Given the description of an element on the screen output the (x, y) to click on. 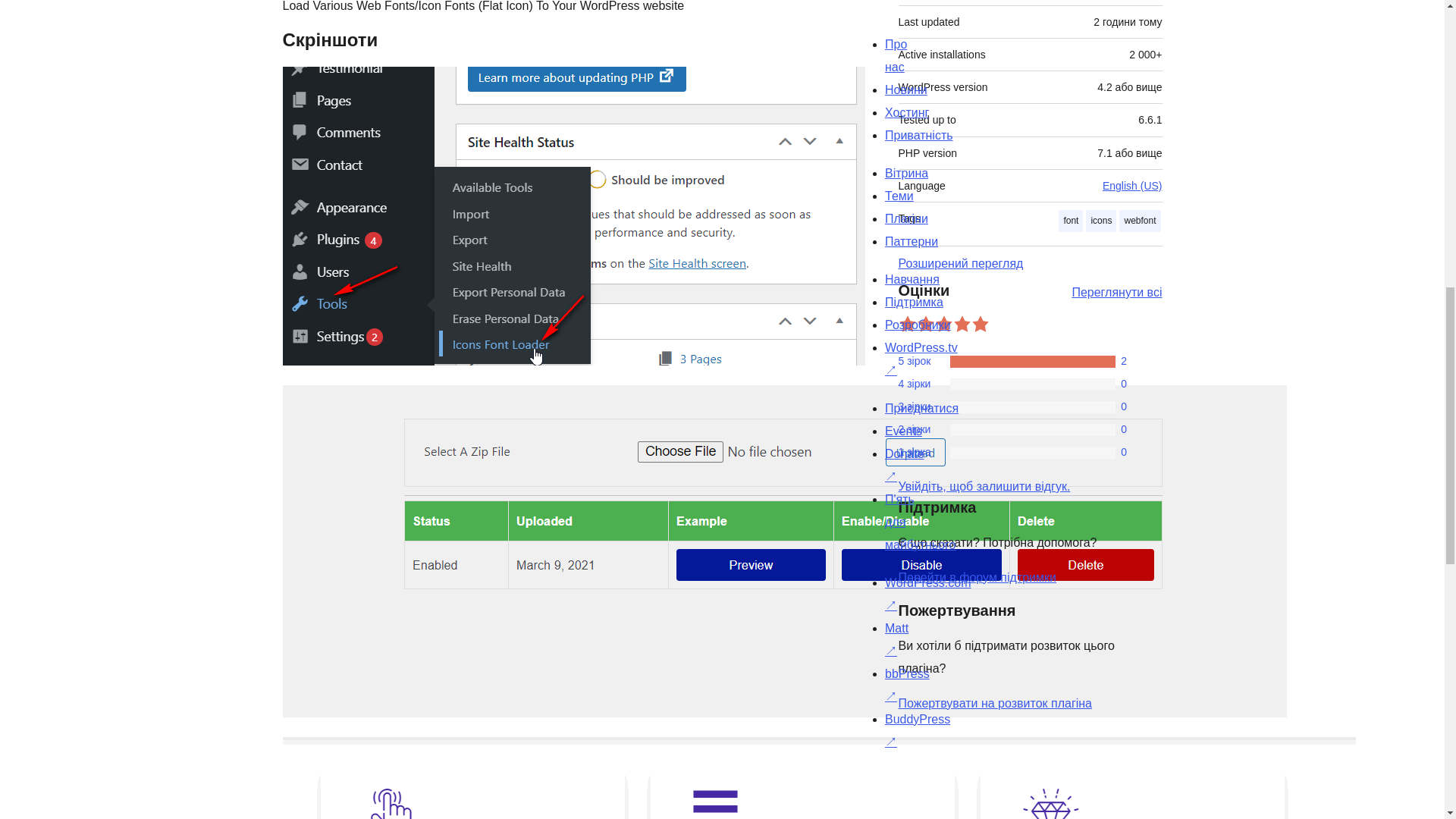
WordPress.org (864, 772)
WordPress.org (1014, 773)
